Given the description of an element on the screen output the (x, y) to click on. 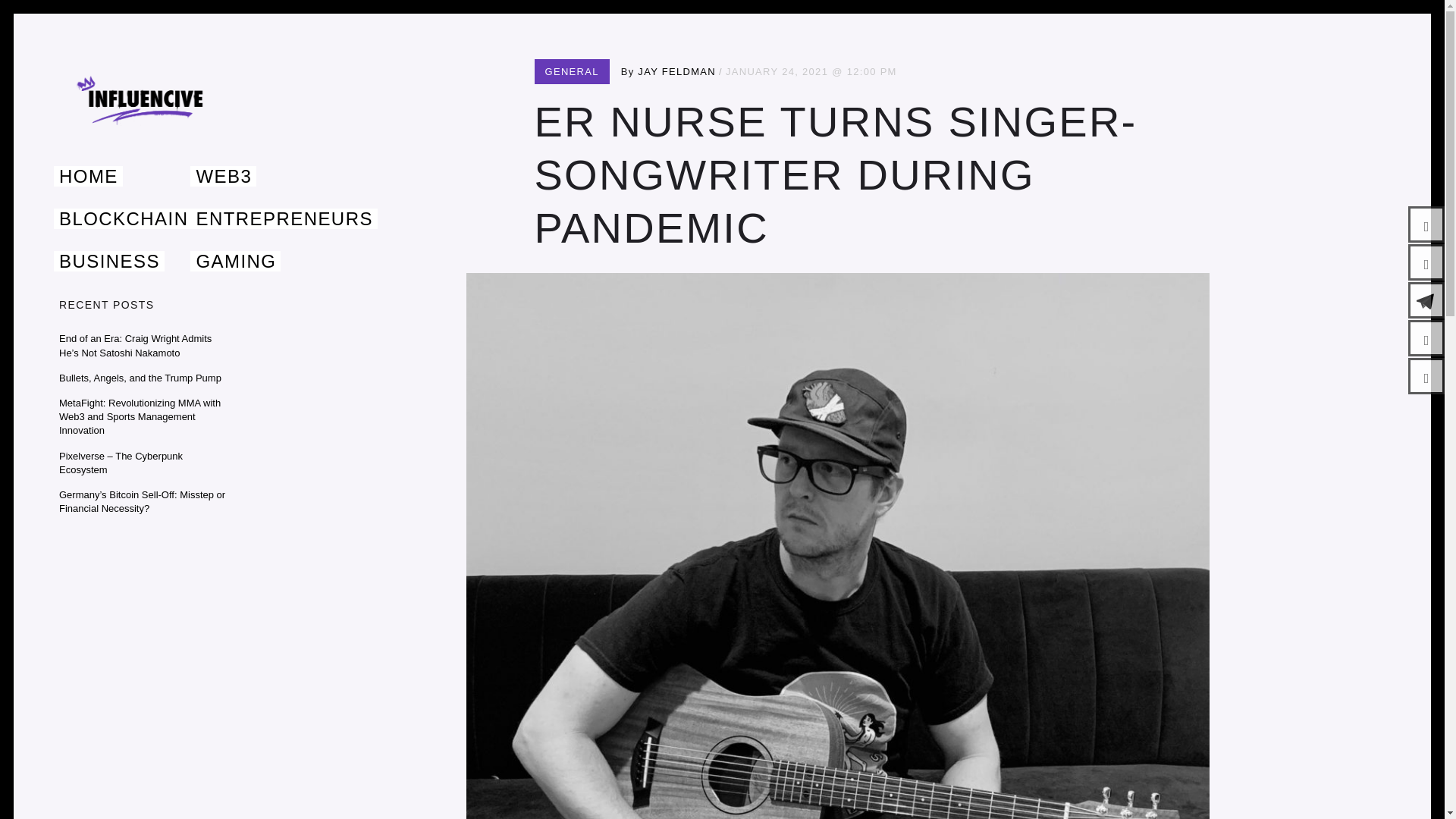
WEB3 (223, 176)
JANUARY 24, 202112:00 PM (810, 71)
JAY FELDMAN (676, 71)
Bullets, Angels, and the Trump Pump (140, 378)
BUSINESS (108, 260)
GENERAL (571, 71)
ENTREPRENEURS (283, 218)
BLOCKCHAIN (122, 218)
INFLUENCIVE (155, 161)
GAMING (235, 260)
HOME (87, 176)
